Given the description of an element on the screen output the (x, y) to click on. 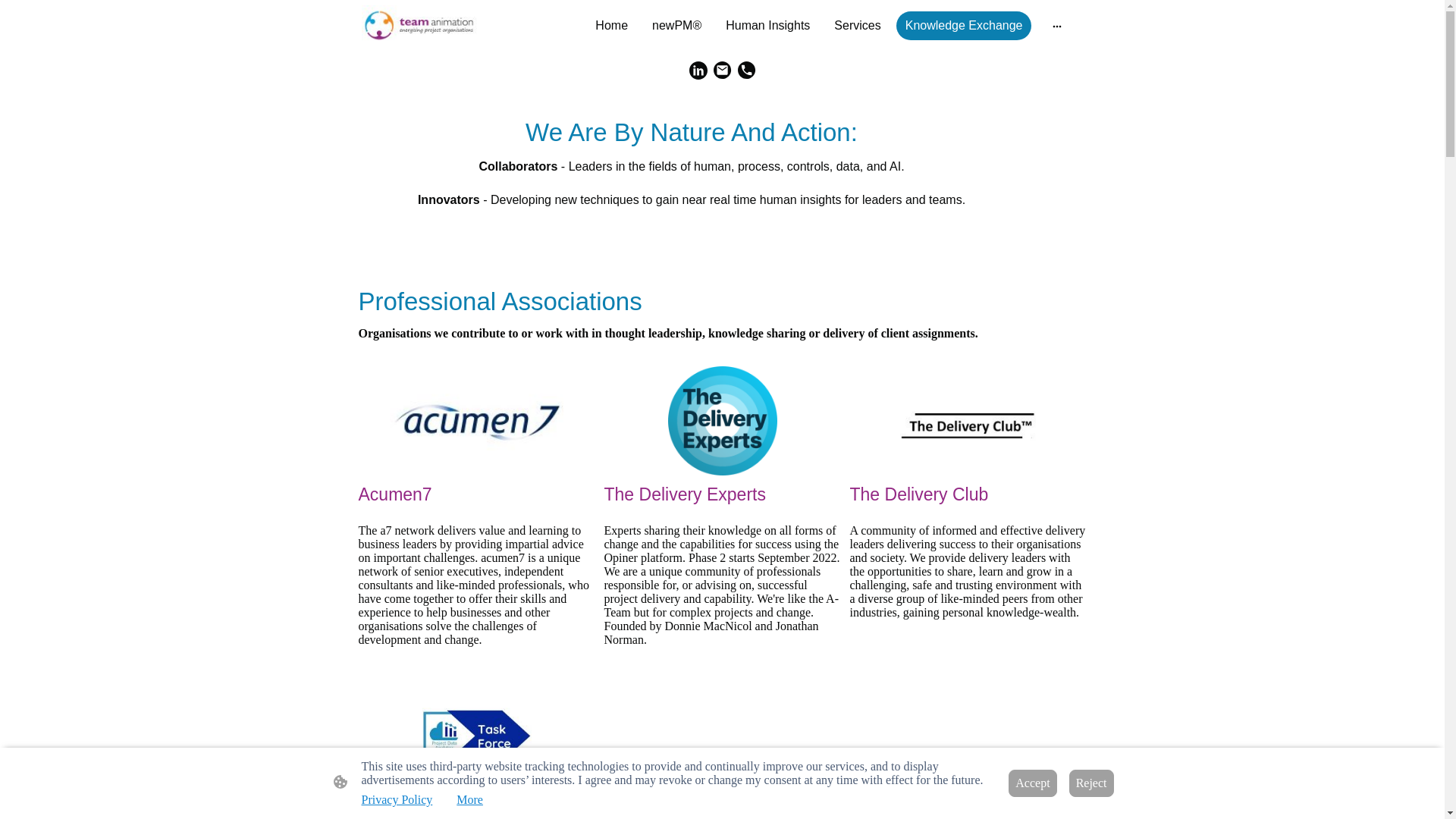
Services (857, 25)
Home (611, 25)
Human Insights (766, 25)
Knowledge Exchange (964, 25)
